Given the description of an element on the screen output the (x, y) to click on. 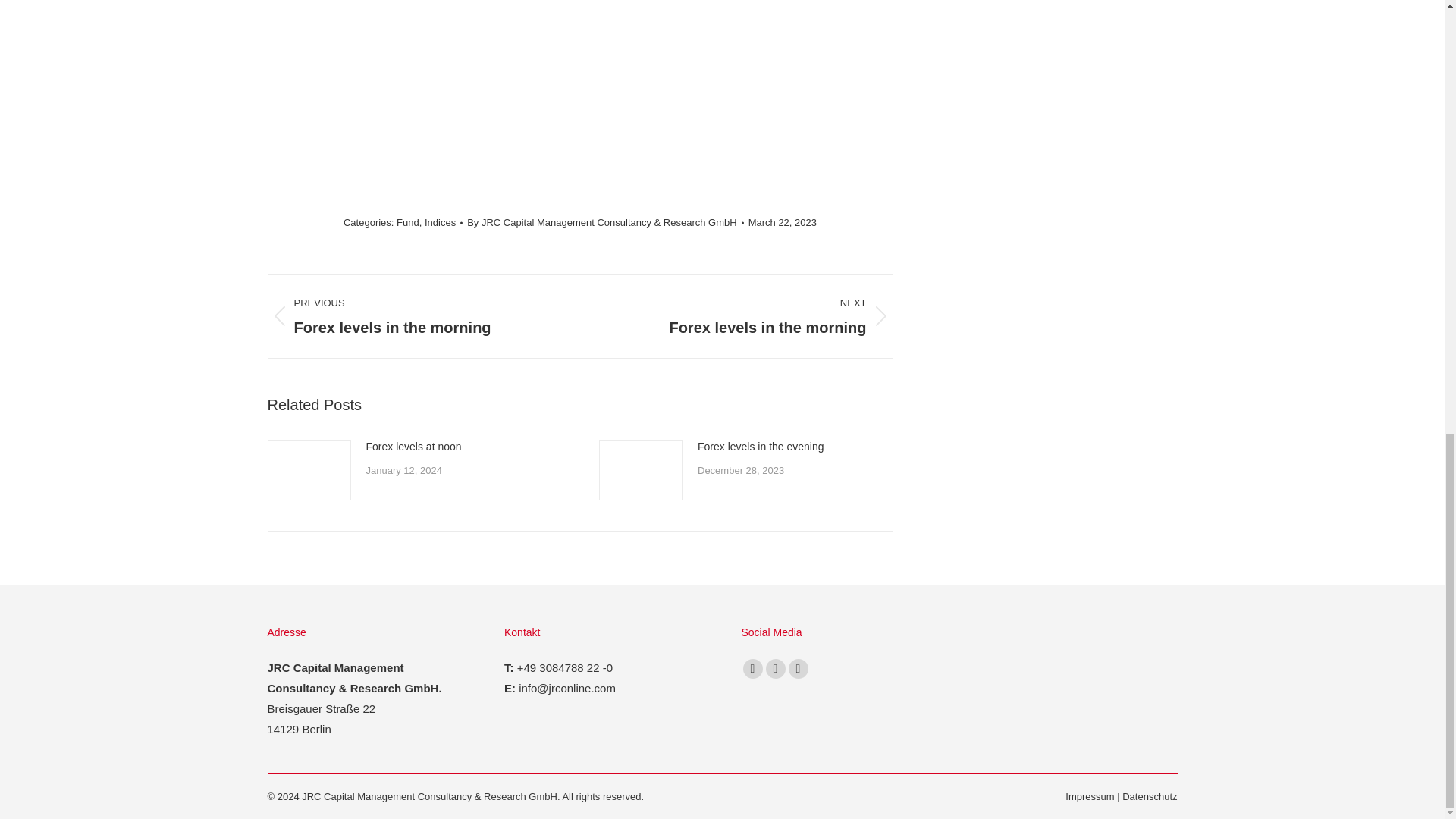
12:53 pm (782, 221)
Linkedin page opens in new window (775, 668)
X page opens in new window (752, 668)
XING page opens in new window (798, 668)
